Given the description of an element on the screen output the (x, y) to click on. 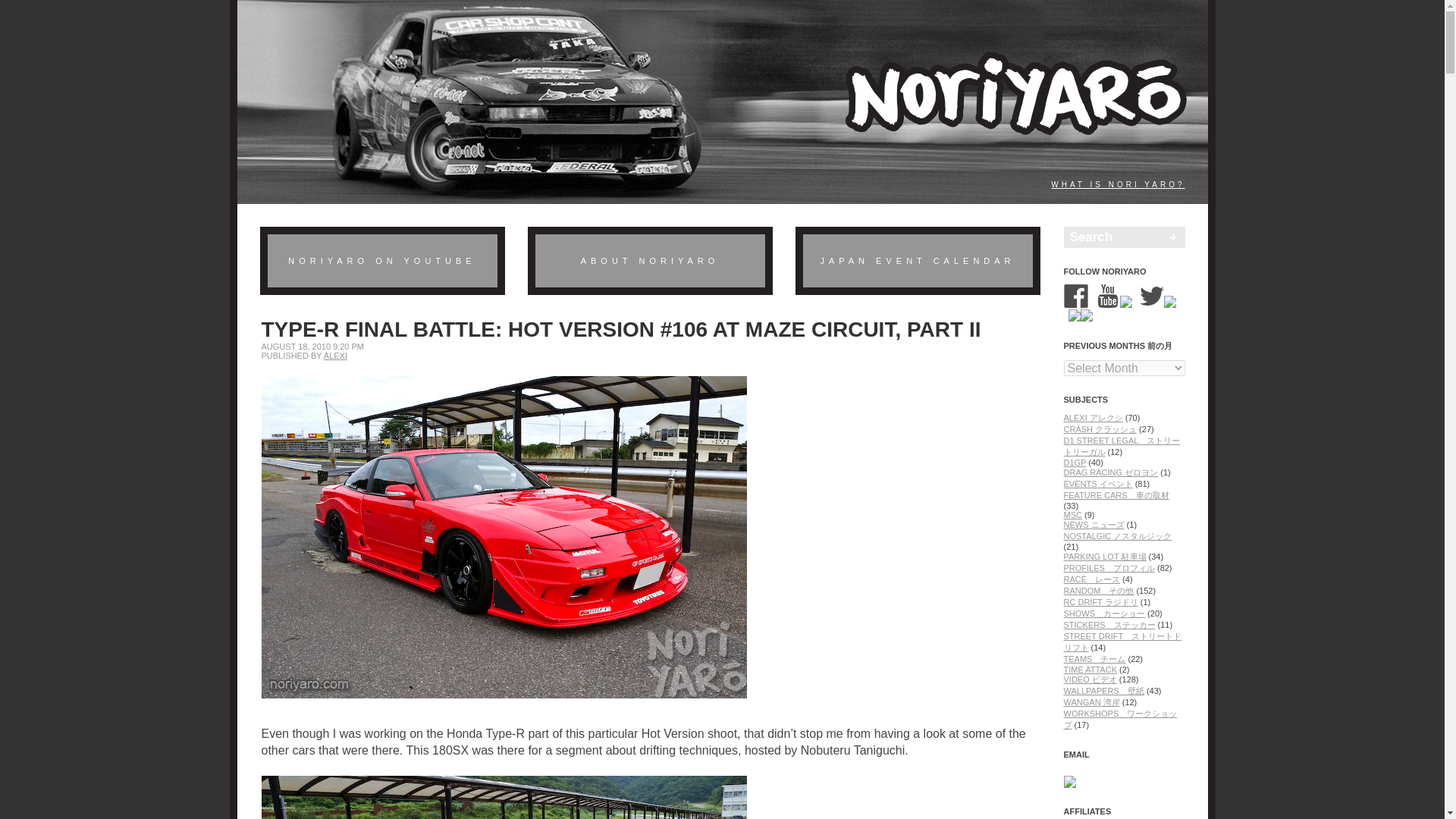
NORIYARO ON YOUTUBE (381, 260)
Posts by Alexi (335, 355)
JAPAN EVENT CALENDAR (917, 260)
ABOUT NORIYARO (650, 260)
WHAT IS NORI YARO? (1118, 184)
ALEXI (335, 355)
